Given the description of an element on the screen output the (x, y) to click on. 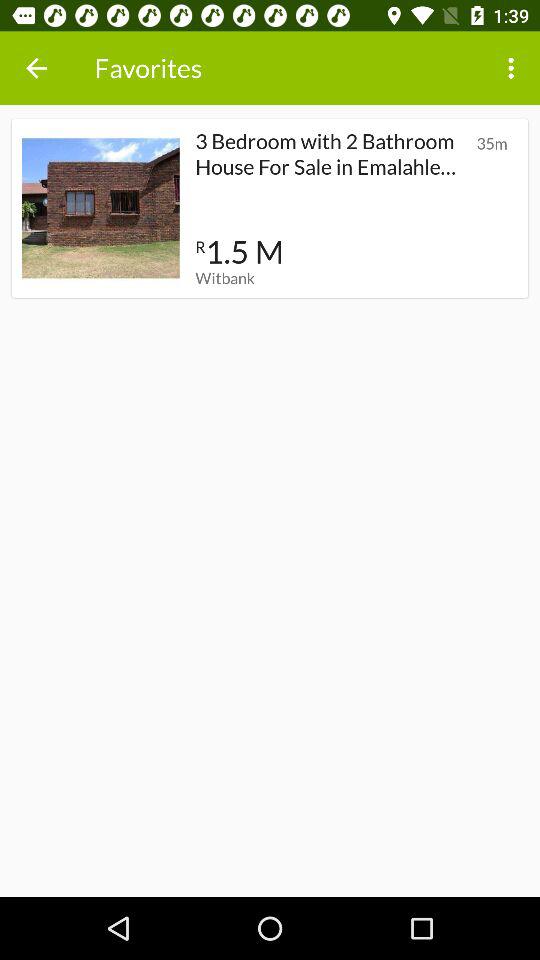
open item next to favorites item (36, 68)
